Given the description of an element on the screen output the (x, y) to click on. 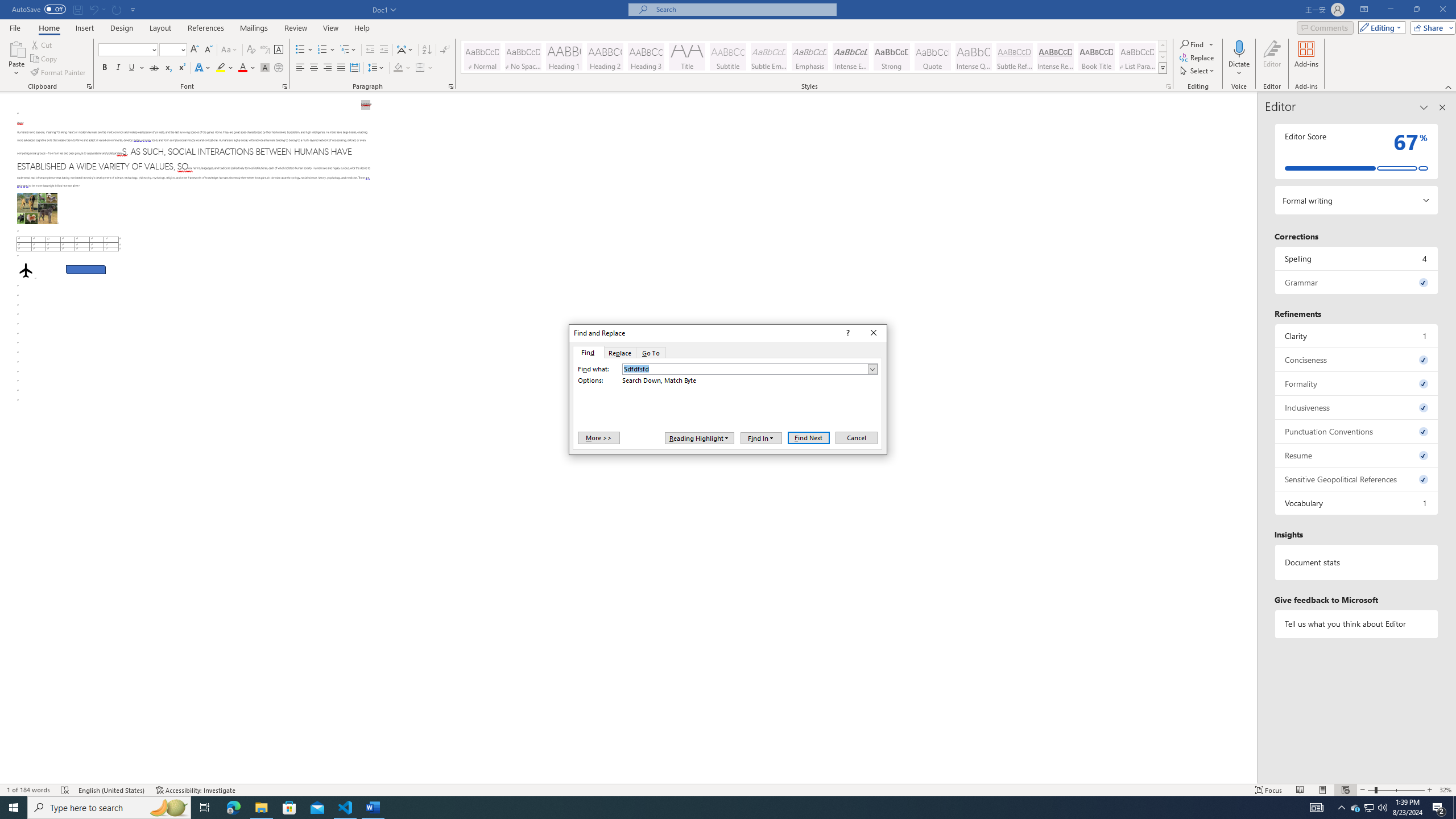
Editing (1379, 27)
